Given the description of an element on the screen output the (x, y) to click on. 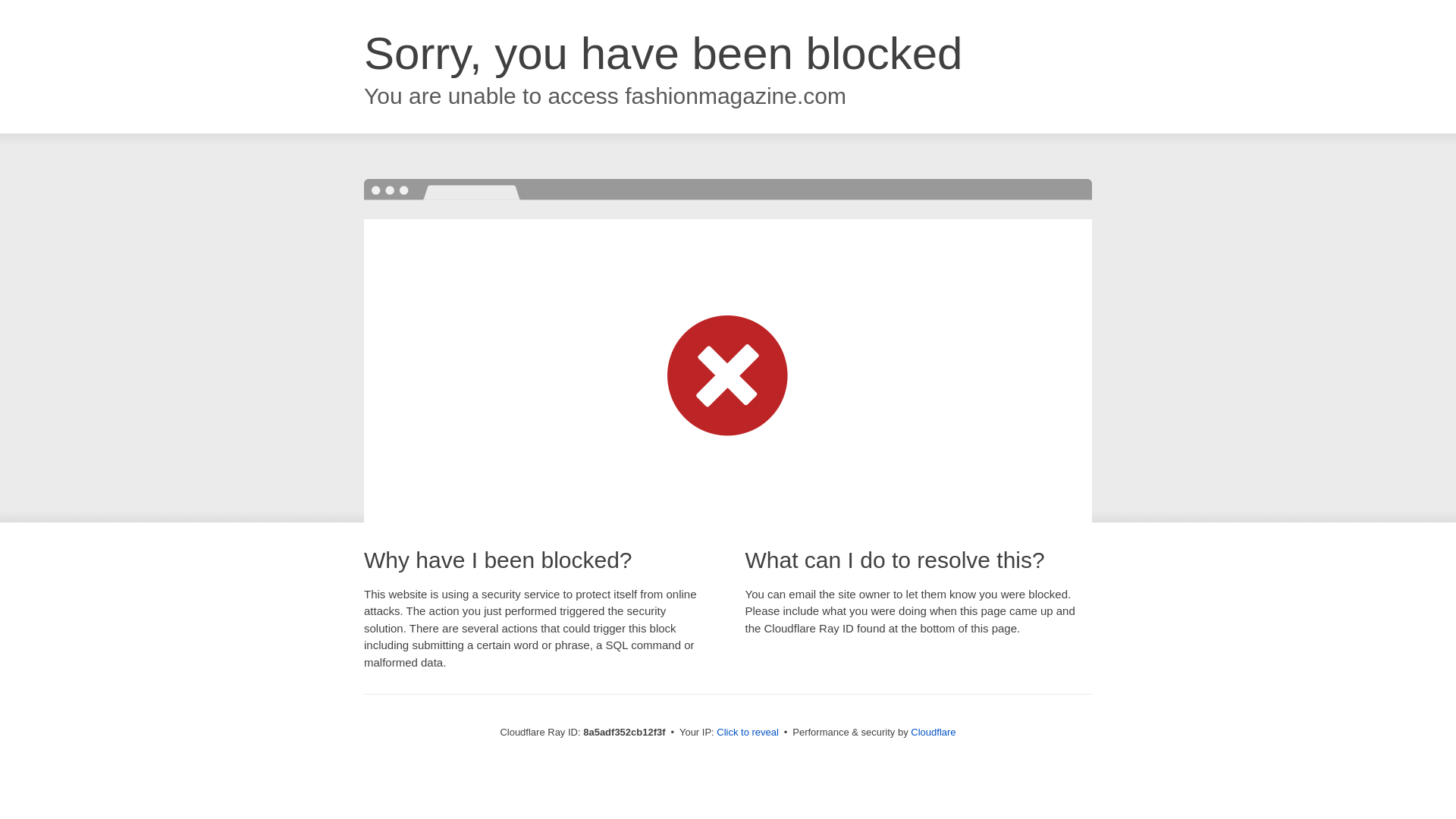
Cloudflare (933, 731)
Click to reveal (747, 732)
